Given the description of an element on the screen output the (x, y) to click on. 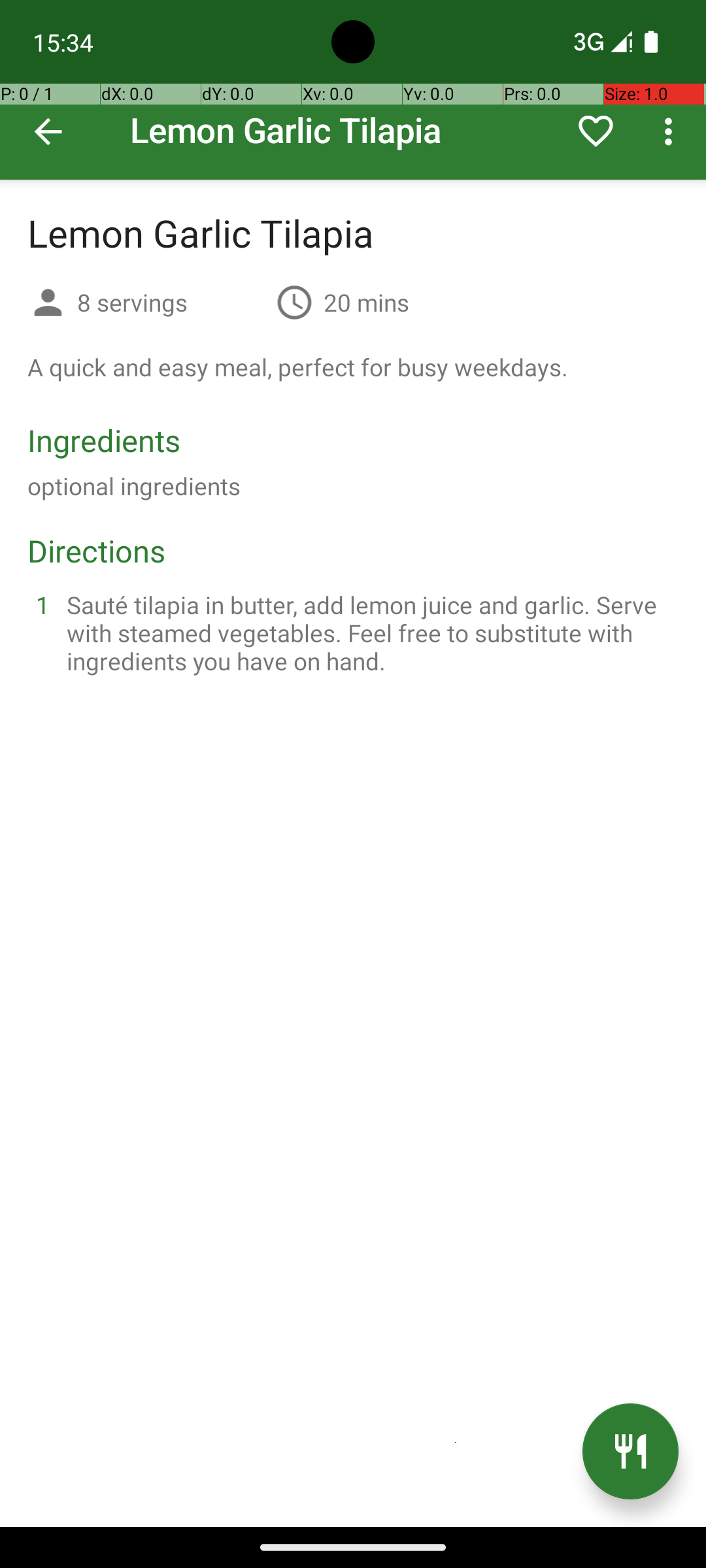
Lemon Garlic Tilapia Element type: android.widget.FrameLayout (353, 89)
20 mins Element type: android.widget.TextView (366, 301)
optional ingredients Element type: android.widget.TextView (133, 485)
Sauté tilapia in butter, add lemon juice and garlic. Serve with steamed vegetables. Feel free to substitute with ingredients you have on hand. Element type: android.widget.TextView (368, 632)
